Given the description of an element on the screen output the (x, y) to click on. 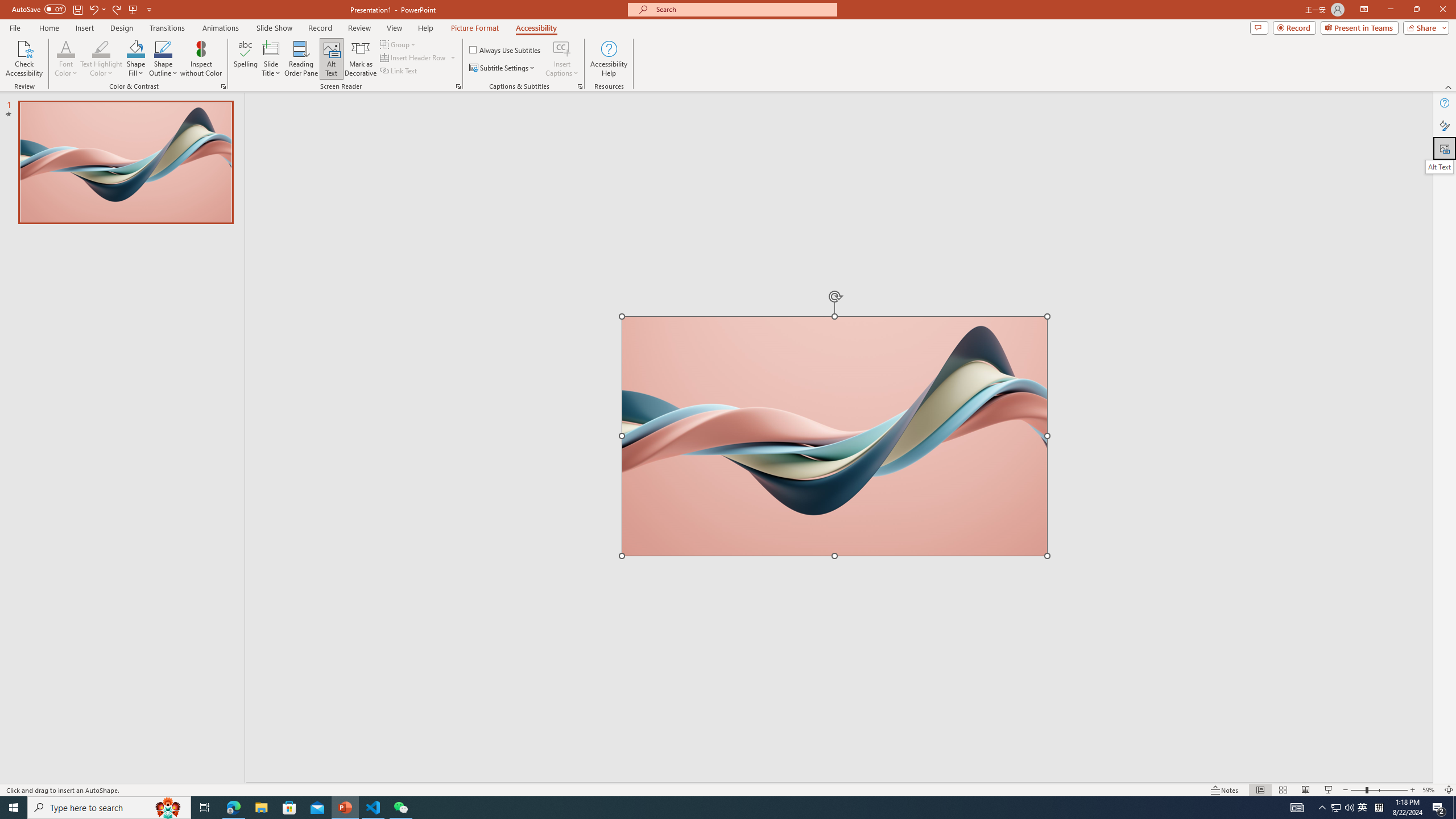
Link Text (399, 69)
